Given the description of an element on the screen output the (x, y) to click on. 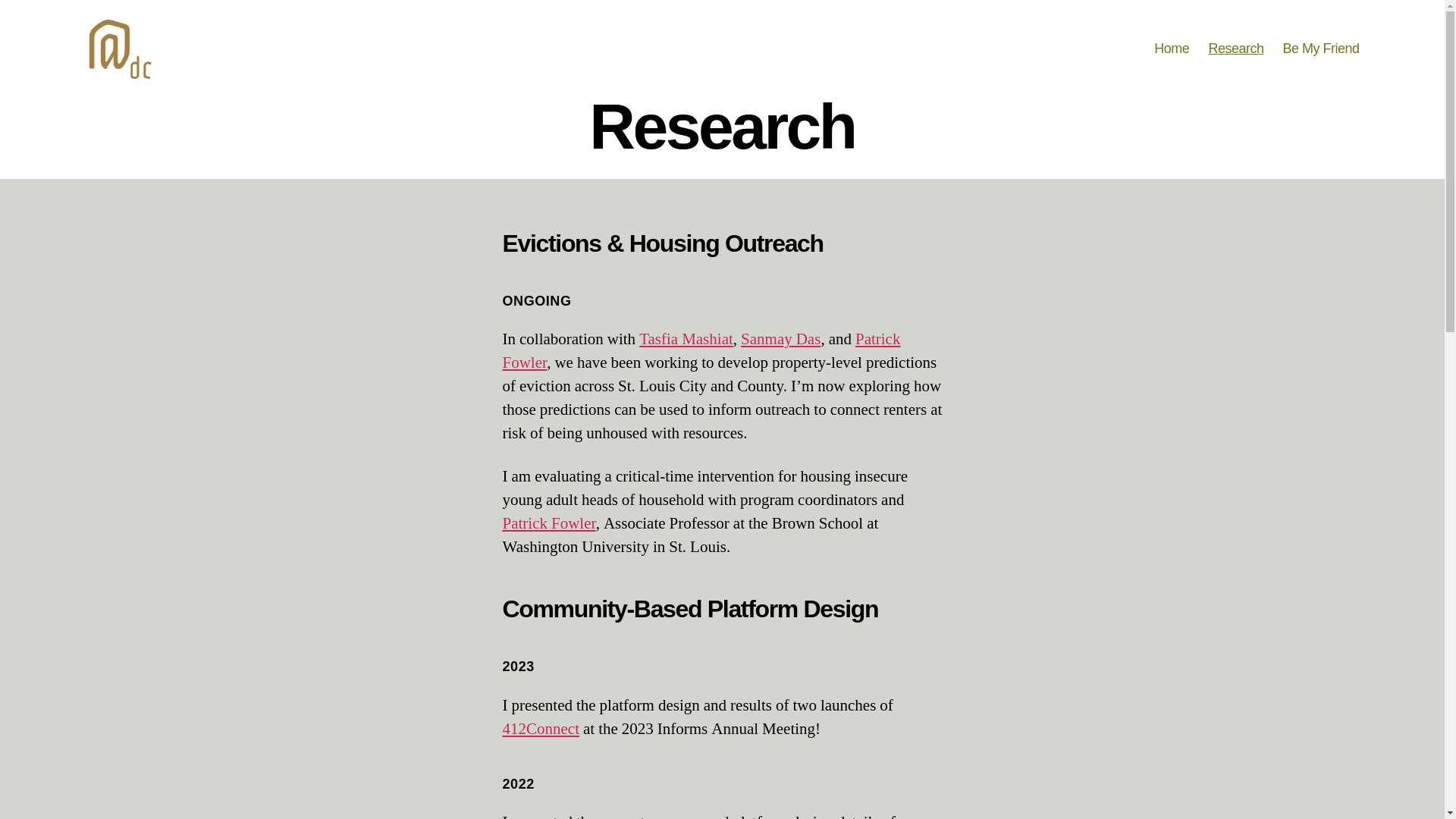
412Connect (540, 729)
Tasfia Mashiat (686, 339)
Be My Friend (1320, 48)
Research (1235, 48)
Sanmay Das (781, 339)
Patrick Fowler (548, 523)
Patrick Fowler (700, 351)
Home (1171, 48)
